Given the description of an element on the screen output the (x, y) to click on. 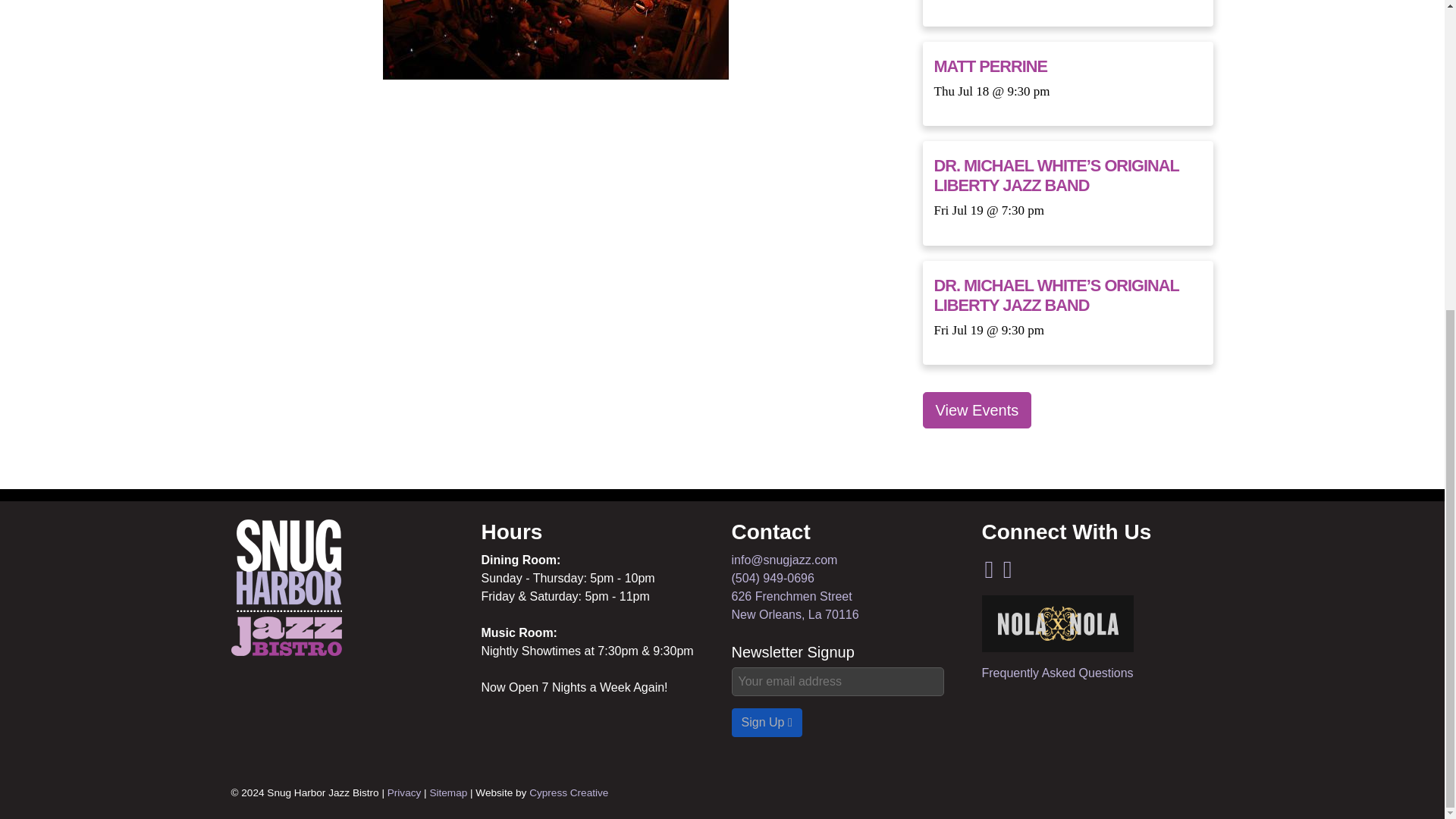
Sign Up (766, 722)
Frequently Asked Questions (1056, 672)
Privacy (404, 792)
Sitemap (448, 792)
Cypress Creative (568, 792)
NOLA x NOLA (1056, 623)
MATT PERRINE (991, 66)
Snug Harbor Jazz Bistro (794, 604)
View Events (285, 587)
